Given the description of an element on the screen output the (x, y) to click on. 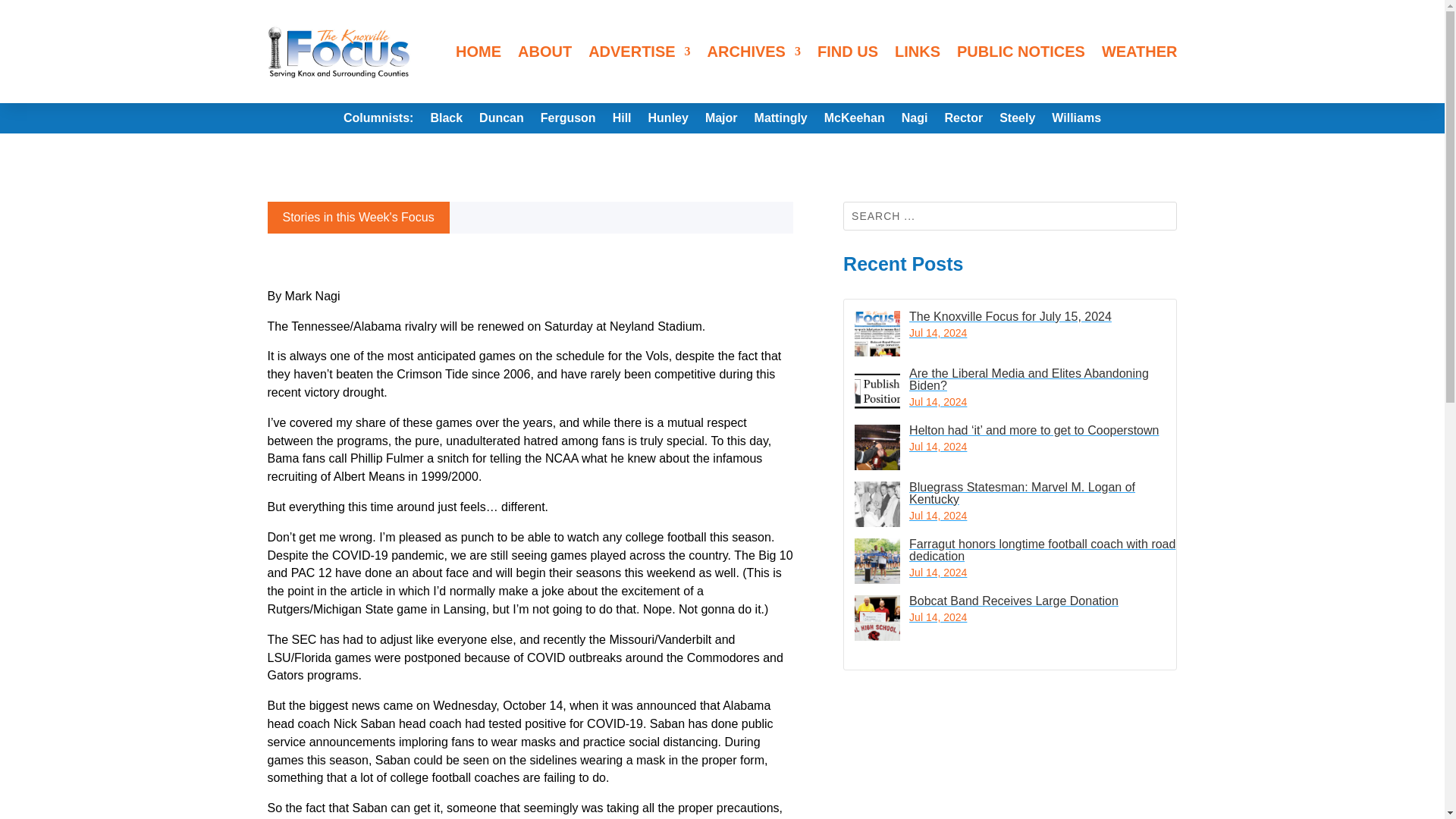
WEATHER (1139, 51)
PUBLIC NOTICES (1020, 51)
ABOUT (545, 51)
ARCHIVES (753, 51)
FIND US (846, 51)
ADVERTISE (639, 51)
